Given the description of an element on the screen output the (x, y) to click on. 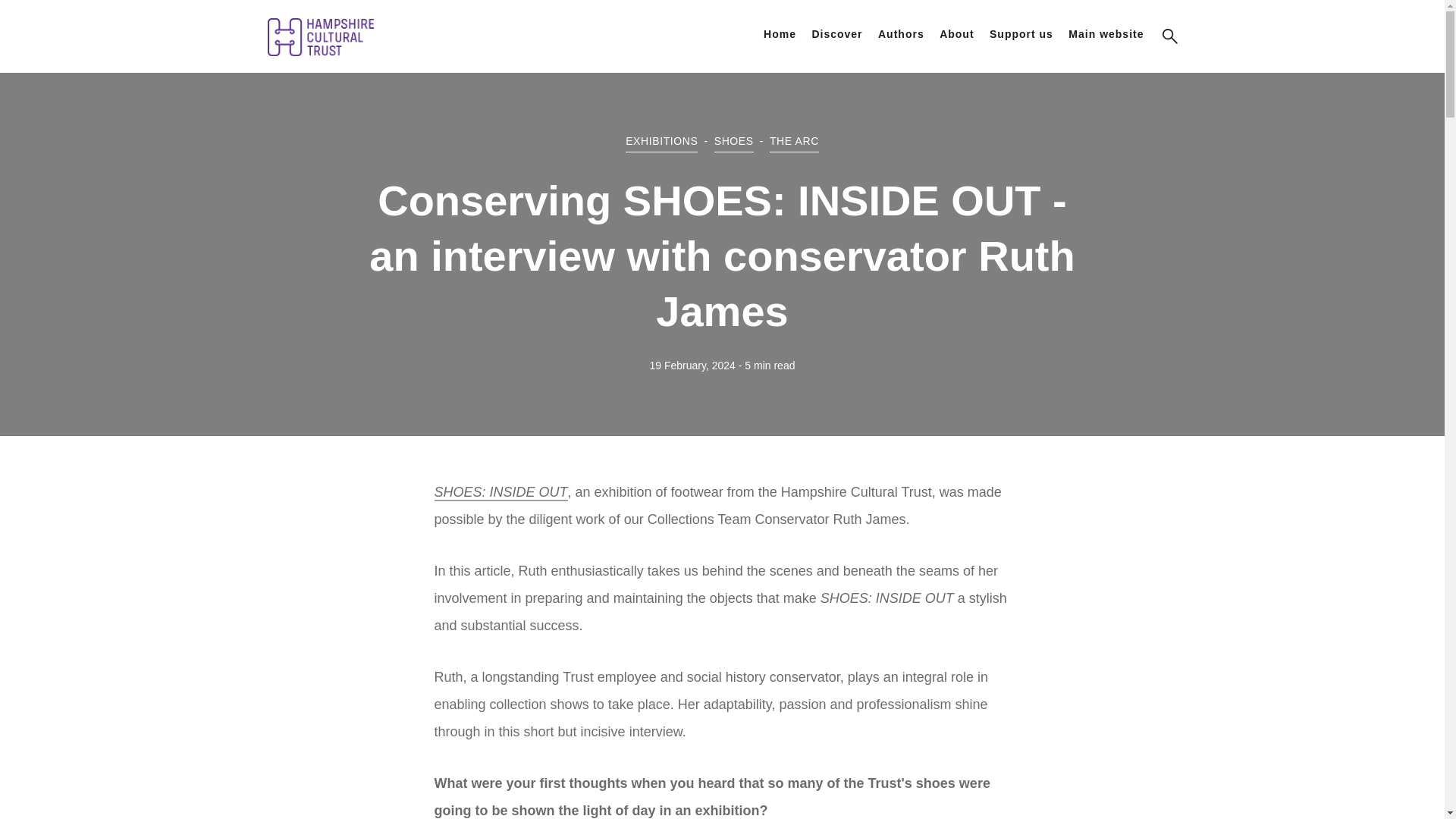
Discover (835, 33)
Authors (900, 33)
Home (779, 33)
Support us (1021, 33)
THE ARC (794, 141)
Main website (1105, 33)
SHOES (734, 141)
SHOES: INSIDE OUT (500, 492)
About (956, 33)
EXHIBITIONS (661, 141)
